Given the description of an element on the screen output the (x, y) to click on. 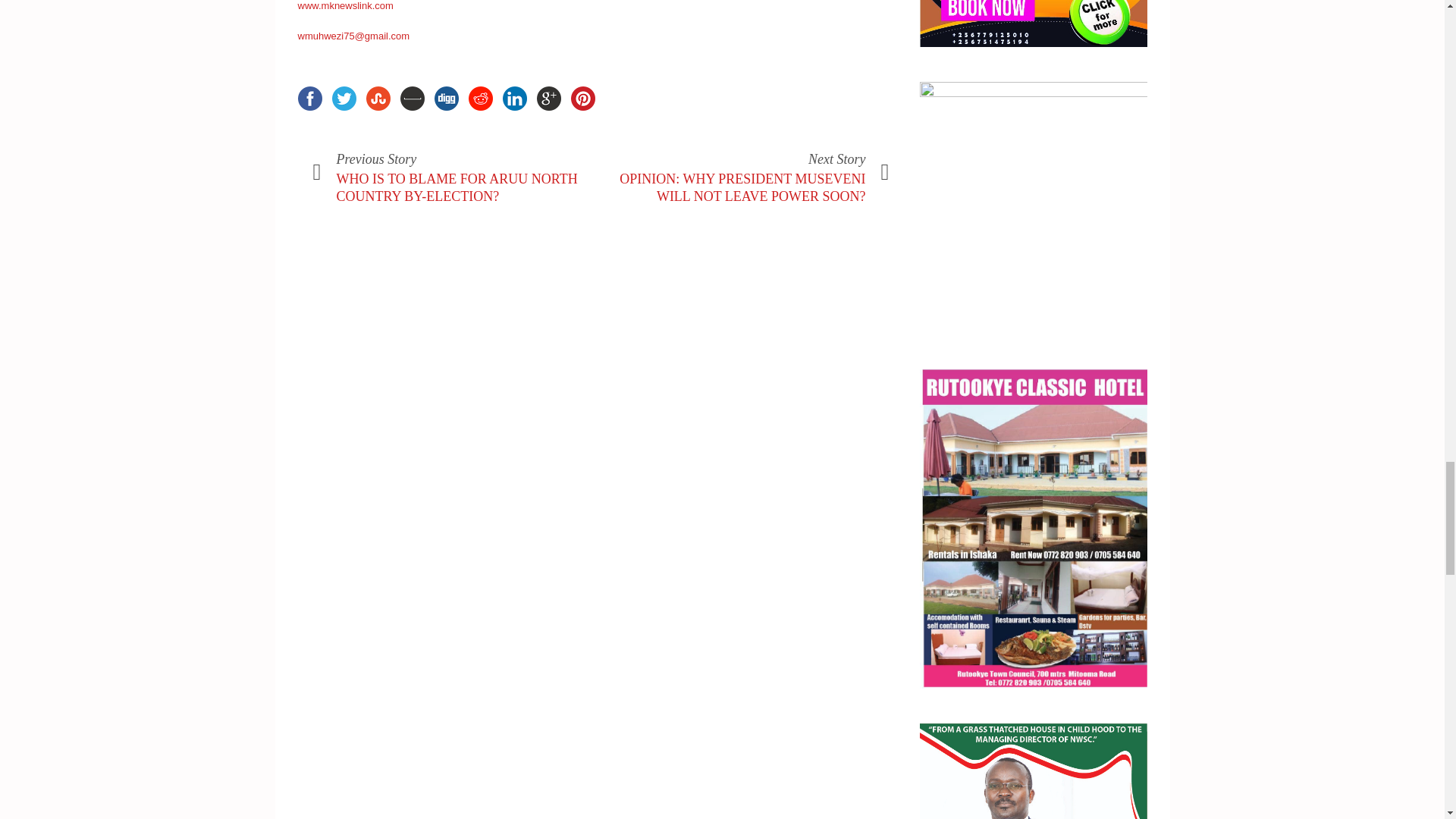
www.mknewslink.com (345, 5)
